Given the description of an element on the screen output the (x, y) to click on. 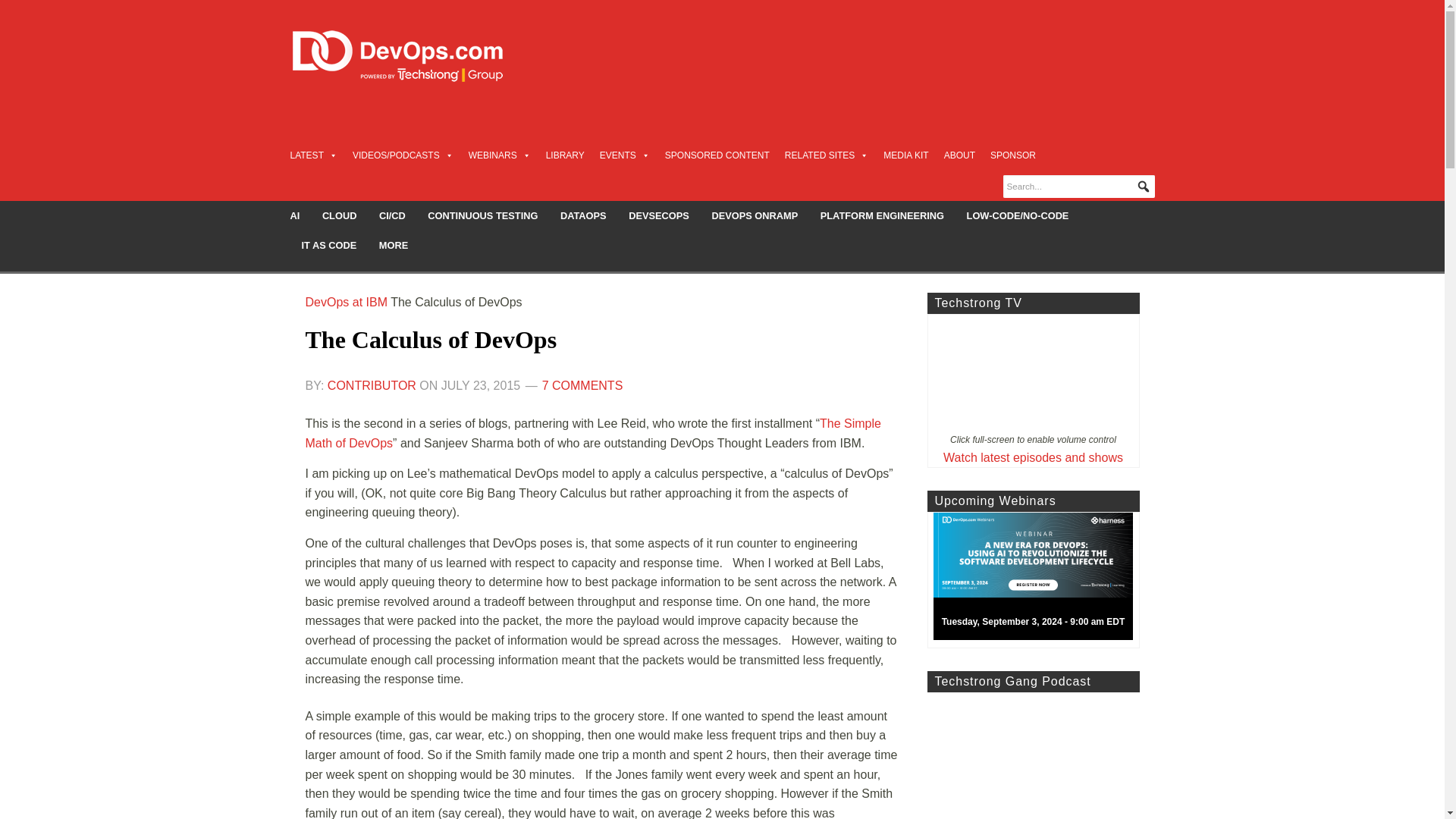
Techstrong Gang (1032, 755)
LATEST (312, 155)
DEVOPS.COM (414, 56)
RELATED SITES (825, 155)
Tuesday, September 3, 2024 - 9:00 am EDT (1038, 579)
WEBINARS (499, 155)
LIBRARY (565, 155)
SPONSORED CONTENT (717, 155)
EVENTS (624, 155)
